Given the description of an element on the screen output the (x, y) to click on. 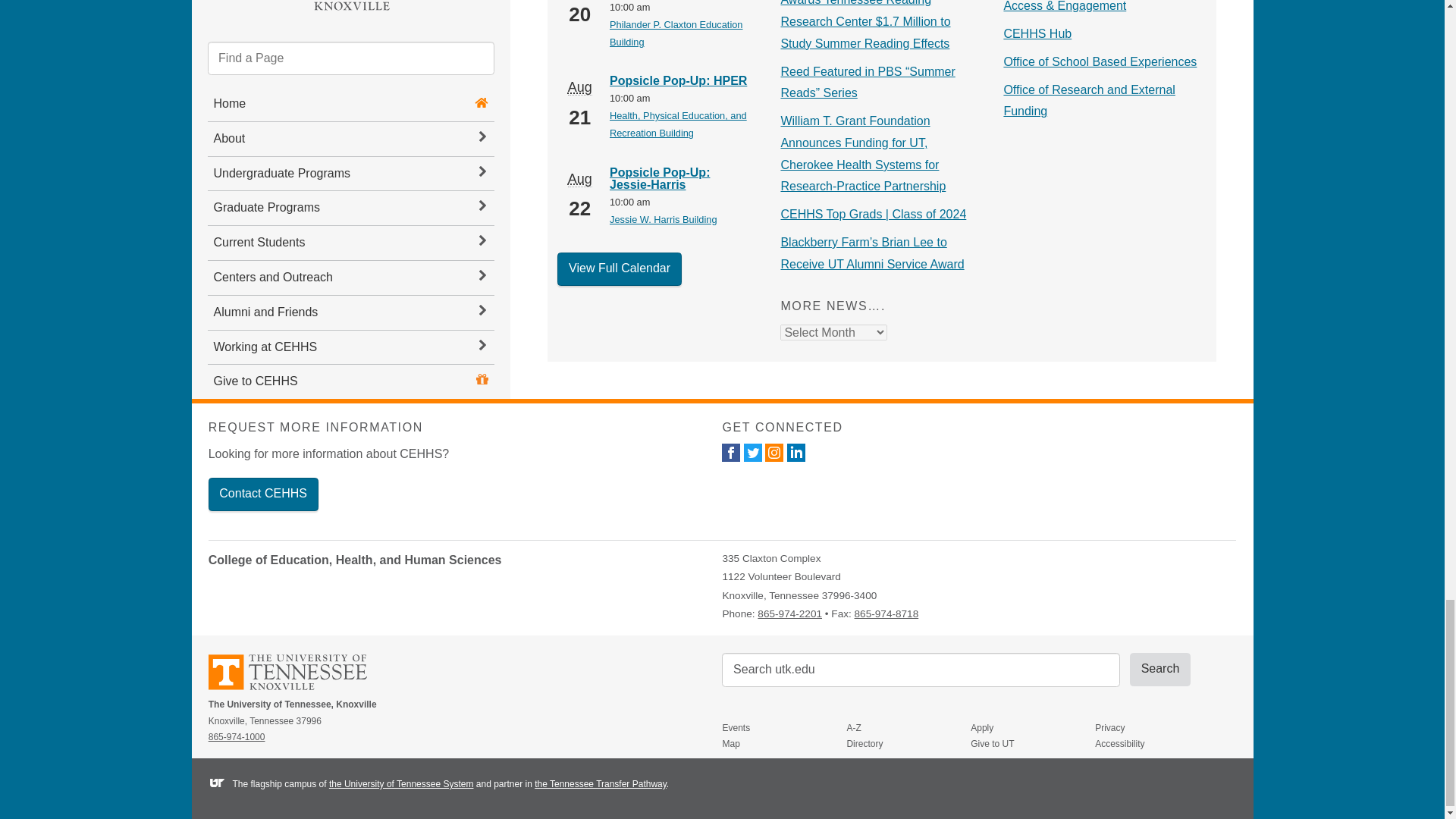
August (579, 87)
Submit (1160, 669)
Search (1160, 669)
Search utk.edu (920, 669)
search (920, 669)
August (579, 178)
